Given the description of an element on the screen output the (x, y) to click on. 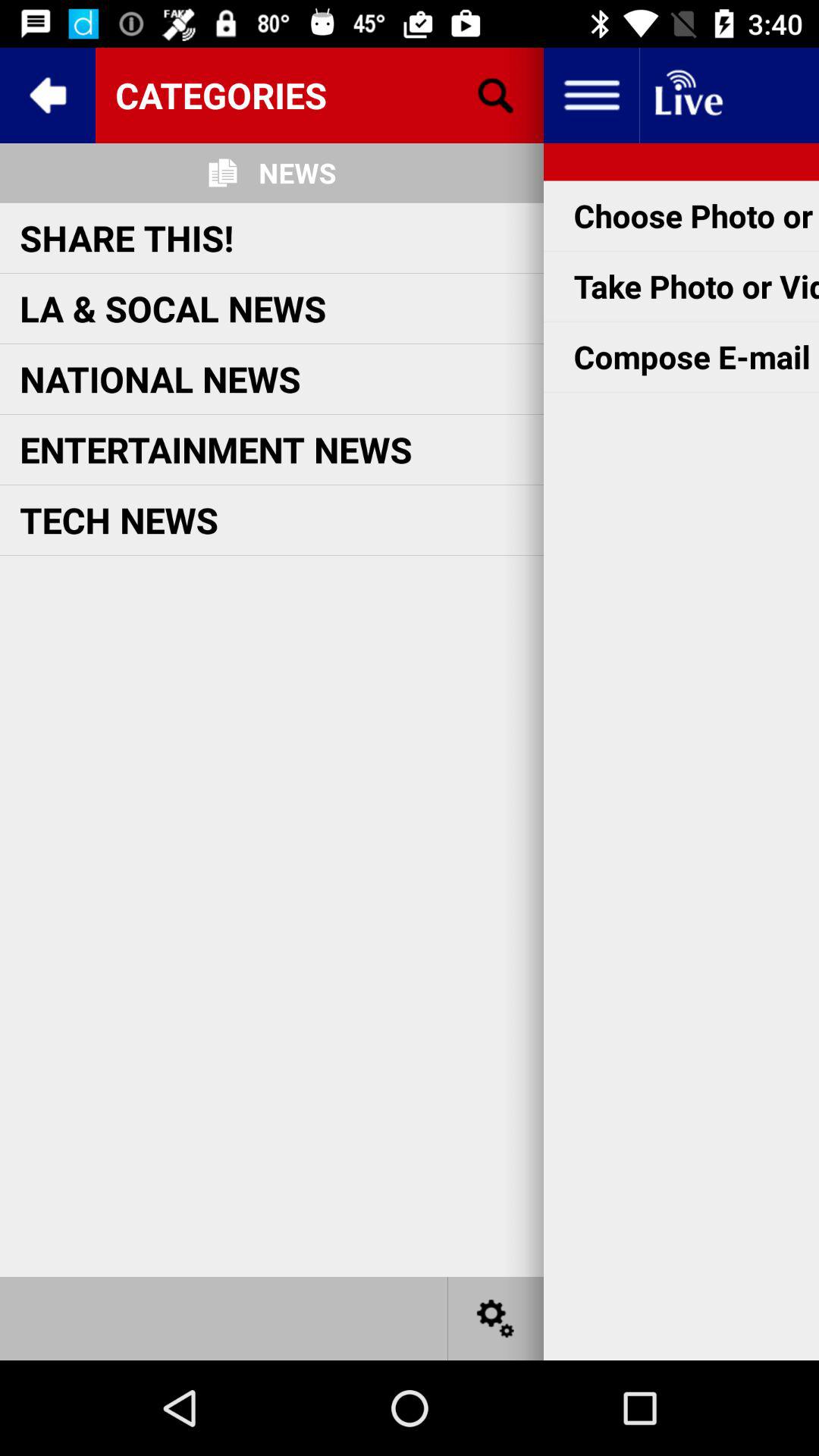
opens the search box (495, 95)
